Given the description of an element on the screen output the (x, y) to click on. 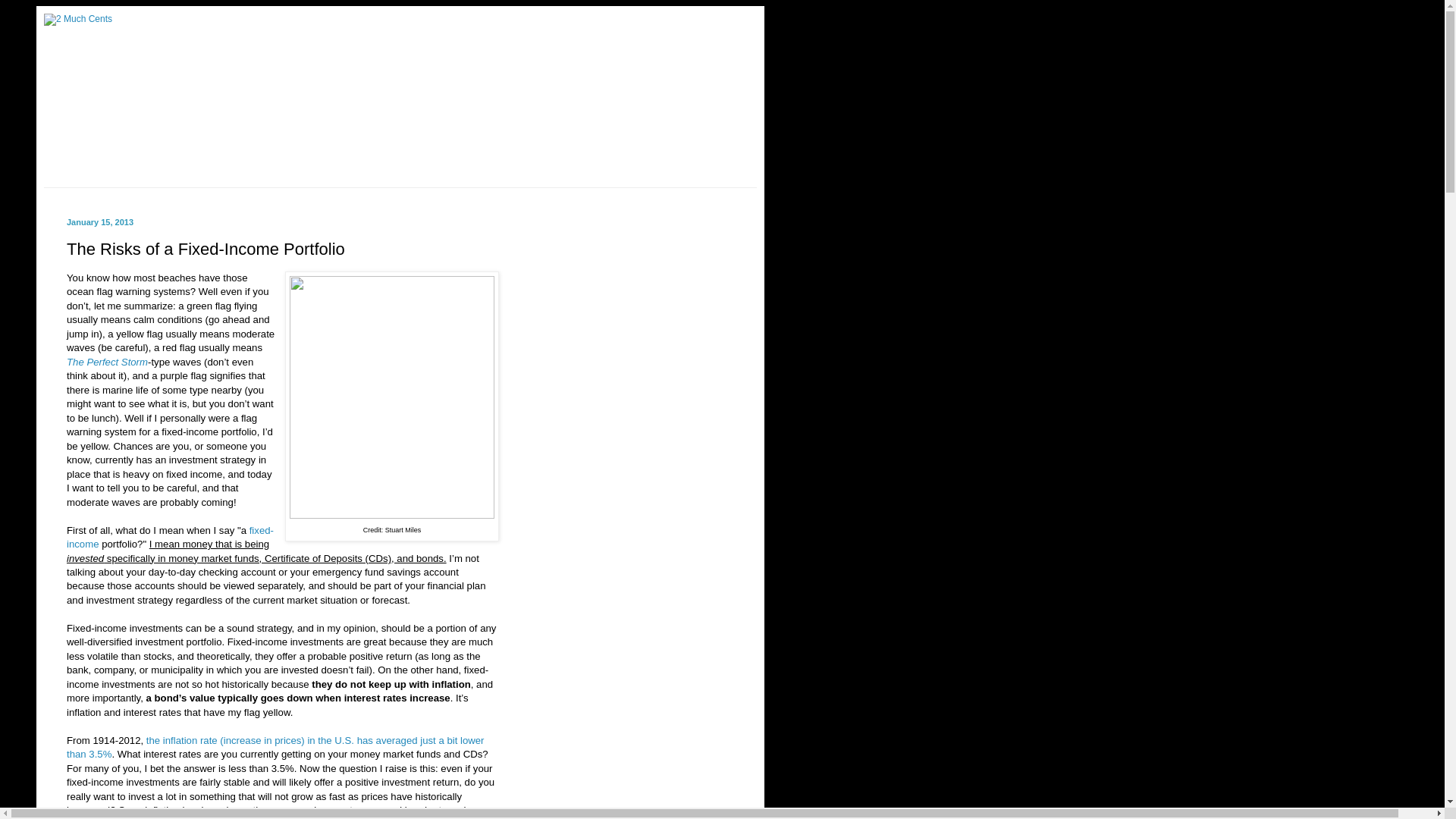
The Perfect Storm Element type: text (106, 361)
fixed-income Element type: text (169, 536)
